Given the description of an element on the screen output the (x, y) to click on. 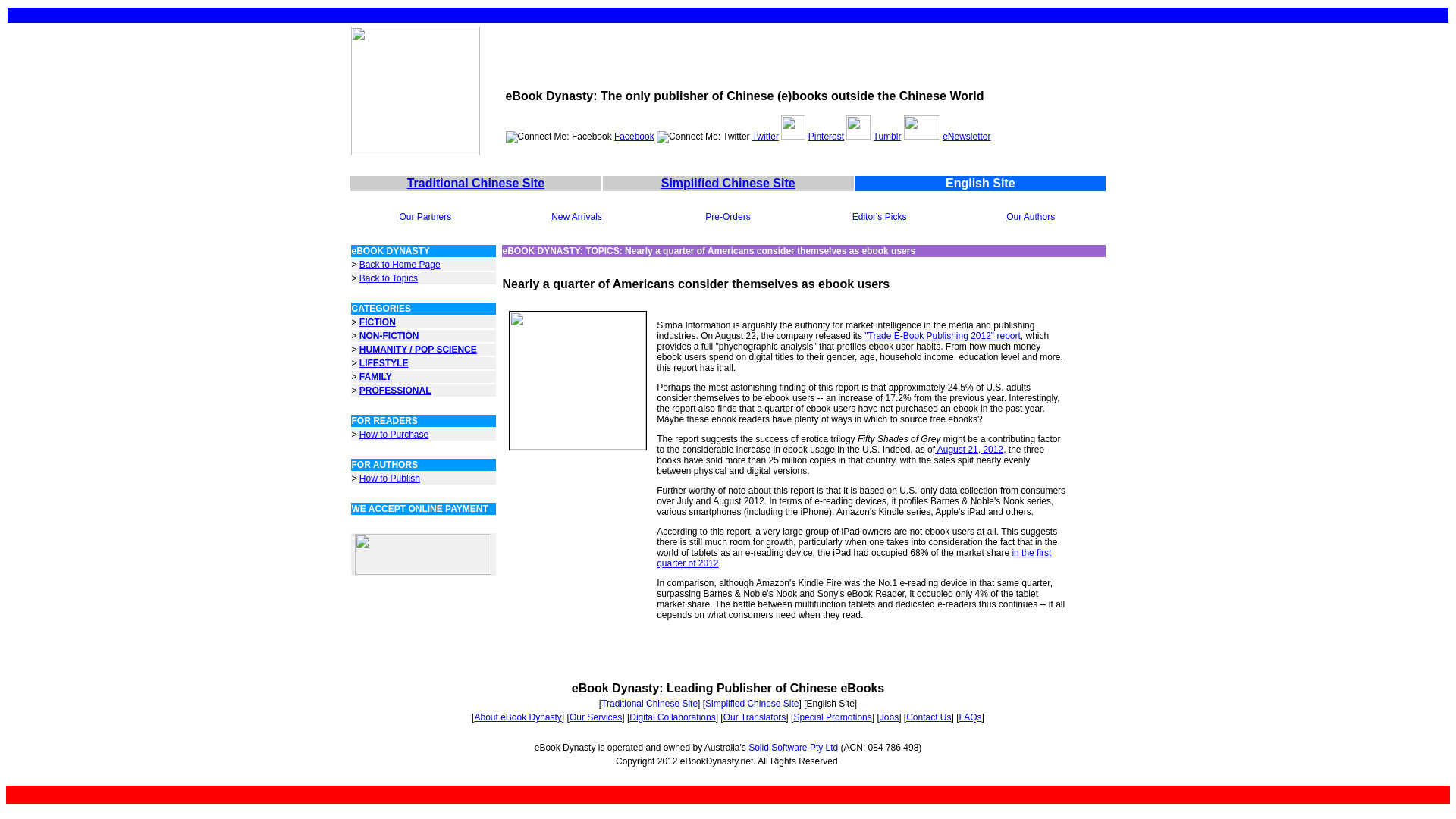
About eBook Dynasty (517, 716)
LIFESTYLE (384, 362)
How to Publish (389, 478)
Simplified Chinese Site (750, 703)
PROFESSIONAL (394, 389)
Traditional Chinese Site (649, 703)
Our Authors (1030, 216)
"Trade E-Book Publishing 2012" report (942, 335)
Our Services (595, 716)
Pre-Orders (726, 216)
Simplified Chinese Site (727, 182)
FAQs (970, 716)
Our Partners (424, 216)
Twitter (765, 136)
Traditional Chinese Site (475, 182)
